Given the description of an element on the screen output the (x, y) to click on. 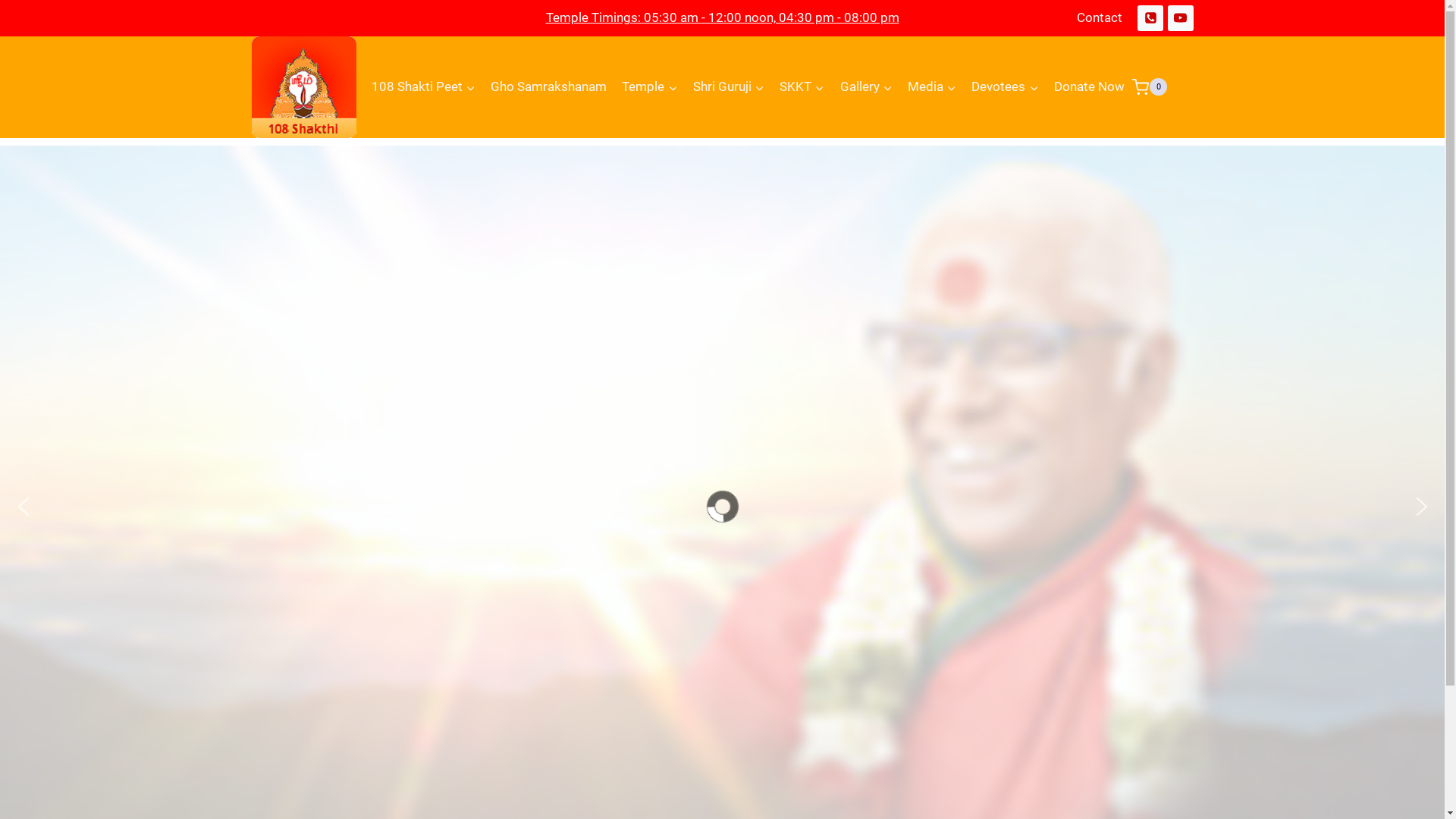
Donate Now Element type: text (1089, 87)
Shri Guruji Element type: text (728, 87)
108 Shakti Peet Element type: text (423, 87)
0 Element type: text (1149, 86)
Gho Samrakshanam Element type: text (548, 87)
Media Element type: text (931, 87)
Contact Element type: text (1099, 18)
Temple Timings: 05:30 am - 12:00 noon, 04:30 pm - 08:00 pm Element type: text (722, 17)
Devotees Element type: text (1004, 87)
SKKT Element type: text (801, 87)
Temple Element type: text (649, 87)
Gallery Element type: text (865, 87)
Read More Element type: text (63, 611)
